Given the description of an element on the screen output the (x, y) to click on. 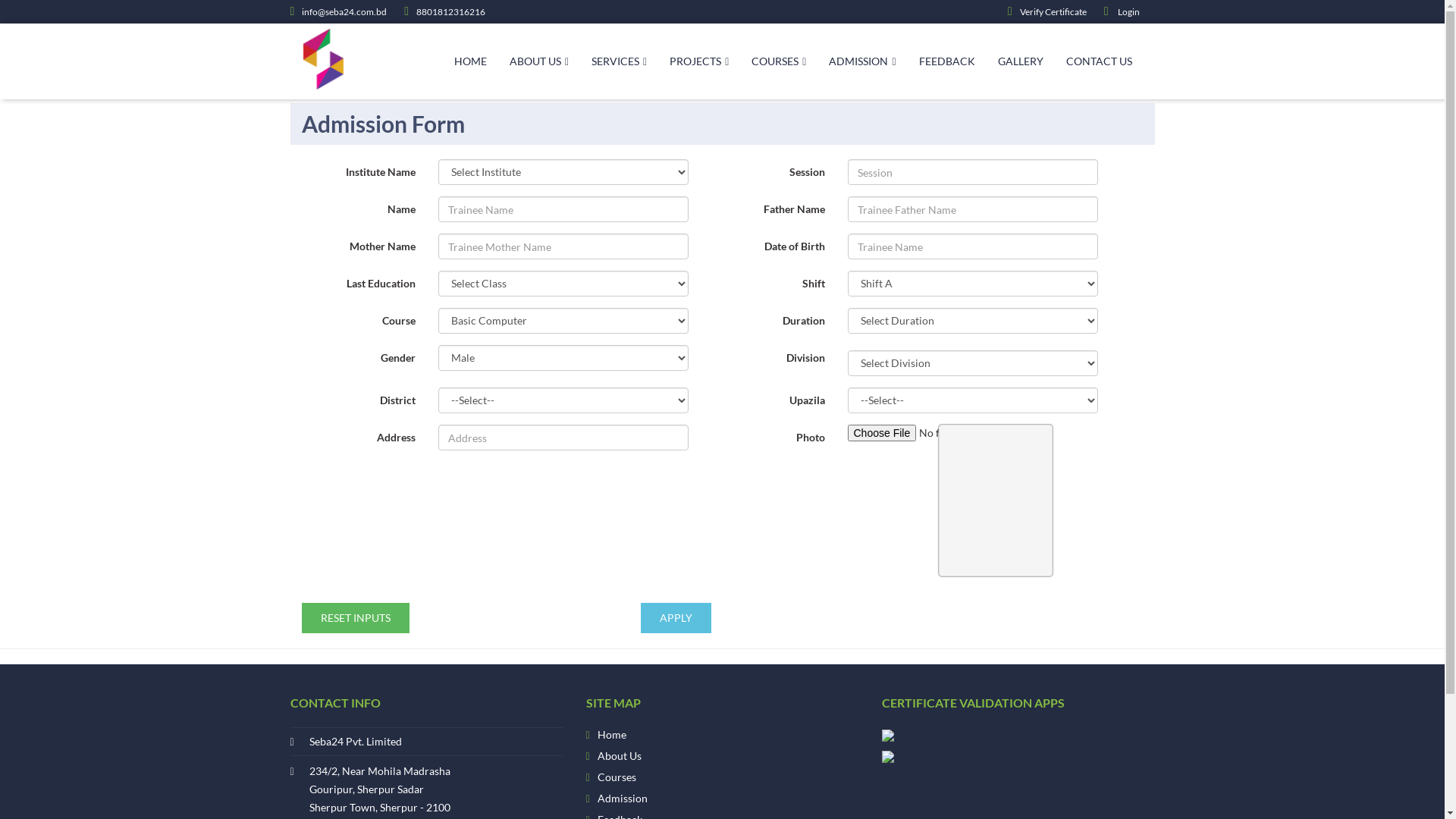
8801812316216 Element type: text (444, 11)
CONTACT US Element type: text (1099, 61)
HOME Element type: text (470, 61)
Admission Element type: text (622, 798)
Verify Certificate Element type: text (1046, 11)
APPLY Element type: text (675, 617)
SERVICES Element type: text (618, 61)
Home Element type: text (611, 734)
About Us Element type: text (619, 755)
GALLERY Element type: text (1020, 61)
ABOUT US Element type: text (538, 61)
ADMISSION Element type: text (861, 61)
FEEDBACK Element type: text (947, 61)
info@seba24.com.bd Element type: text (337, 11)
Login Element type: text (1121, 11)
PROJECTS Element type: text (698, 61)
Courses Element type: text (616, 776)
COURSES Element type: text (778, 61)
